Given the description of an element on the screen output the (x, y) to click on. 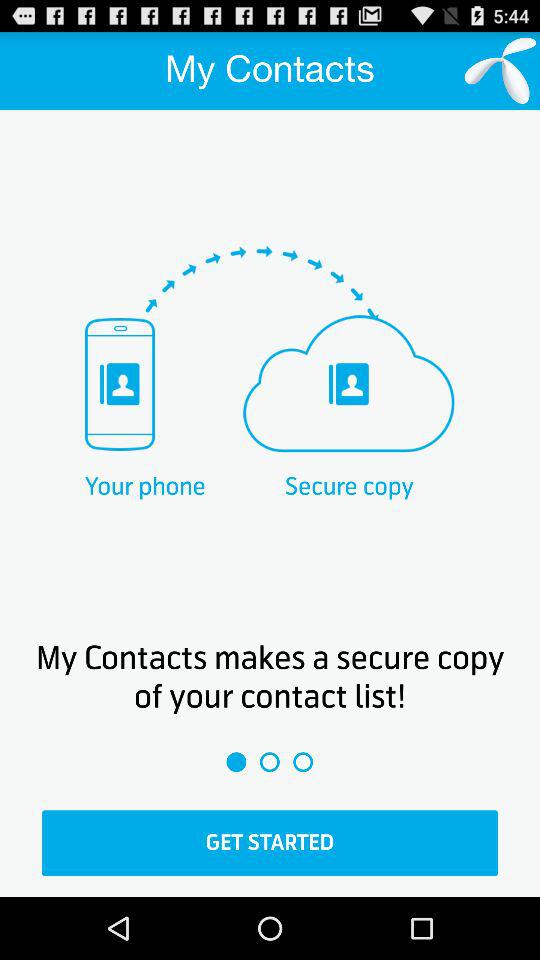
swipe to the get started (269, 843)
